Given the description of an element on the screen output the (x, y) to click on. 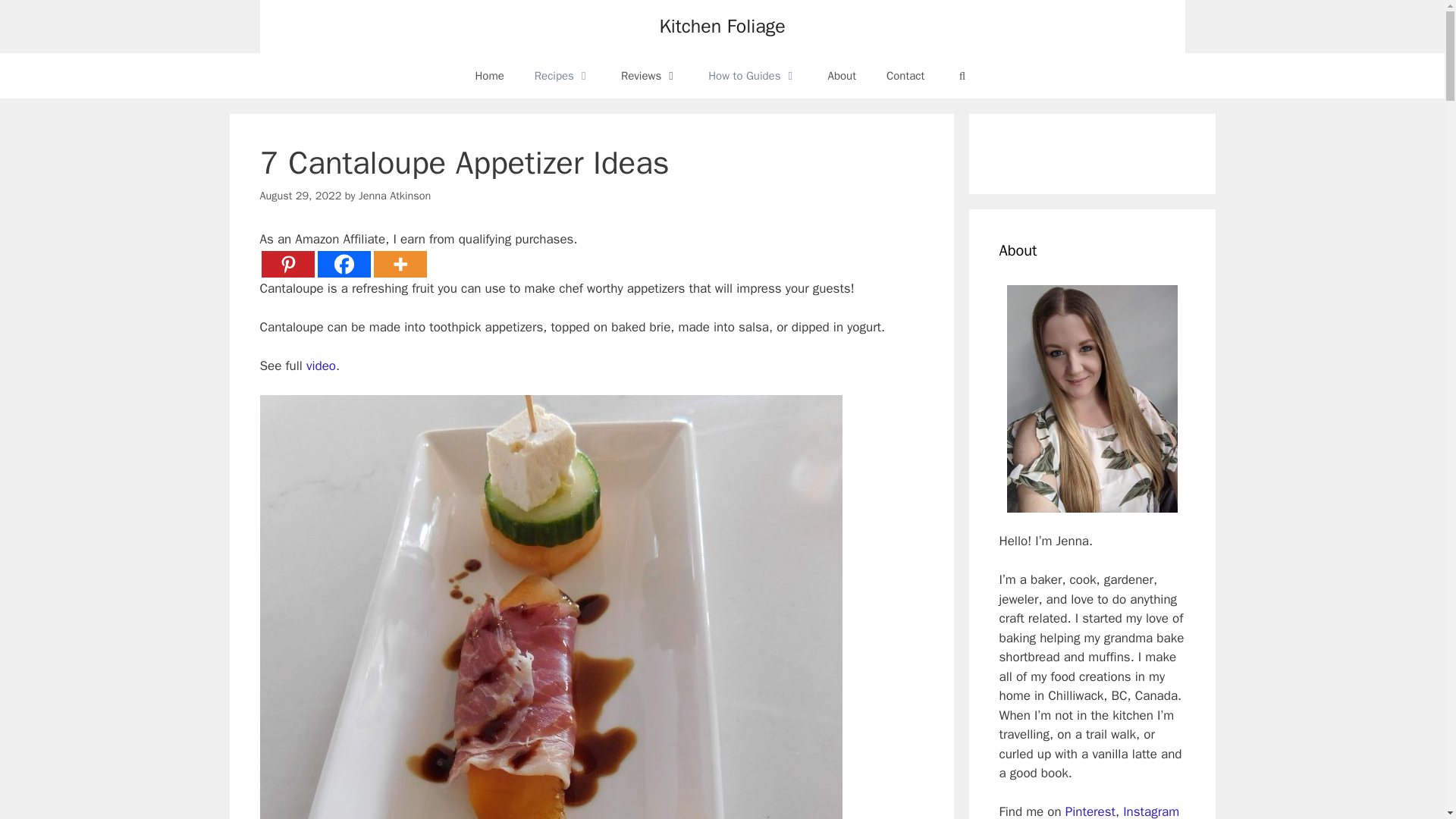
Facebook (343, 263)
Pinterest (287, 263)
Kitchen Foliage (721, 25)
More (399, 263)
View all posts by Jenna Atkinson (394, 195)
Home (489, 75)
Recipes (562, 75)
